Given the description of an element on the screen output the (x, y) to click on. 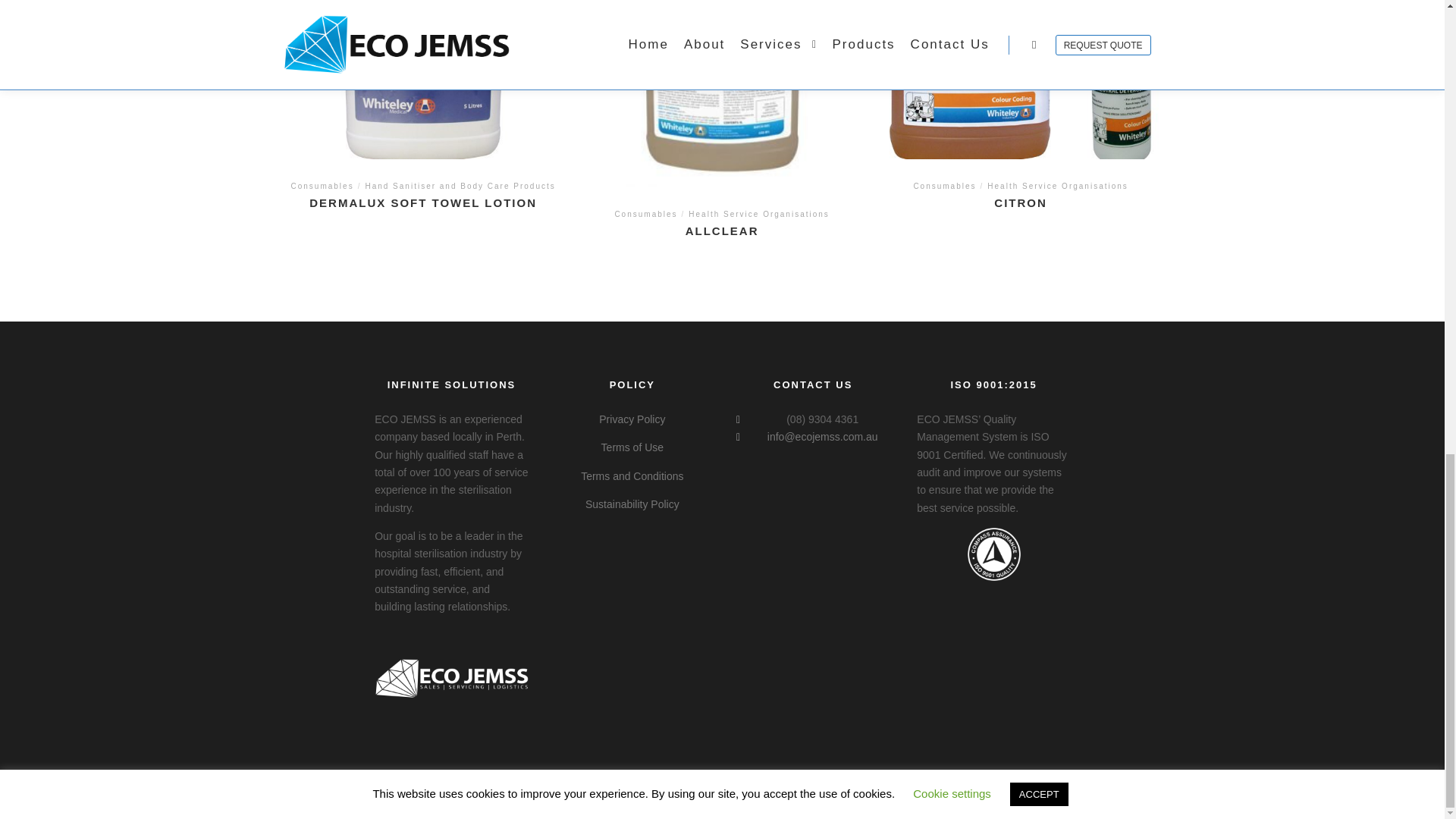
Sustainability Policy (632, 503)
Terms of Use (632, 447)
Privacy Policy (631, 419)
Terms and Conditions (631, 476)
